Given the description of an element on the screen output the (x, y) to click on. 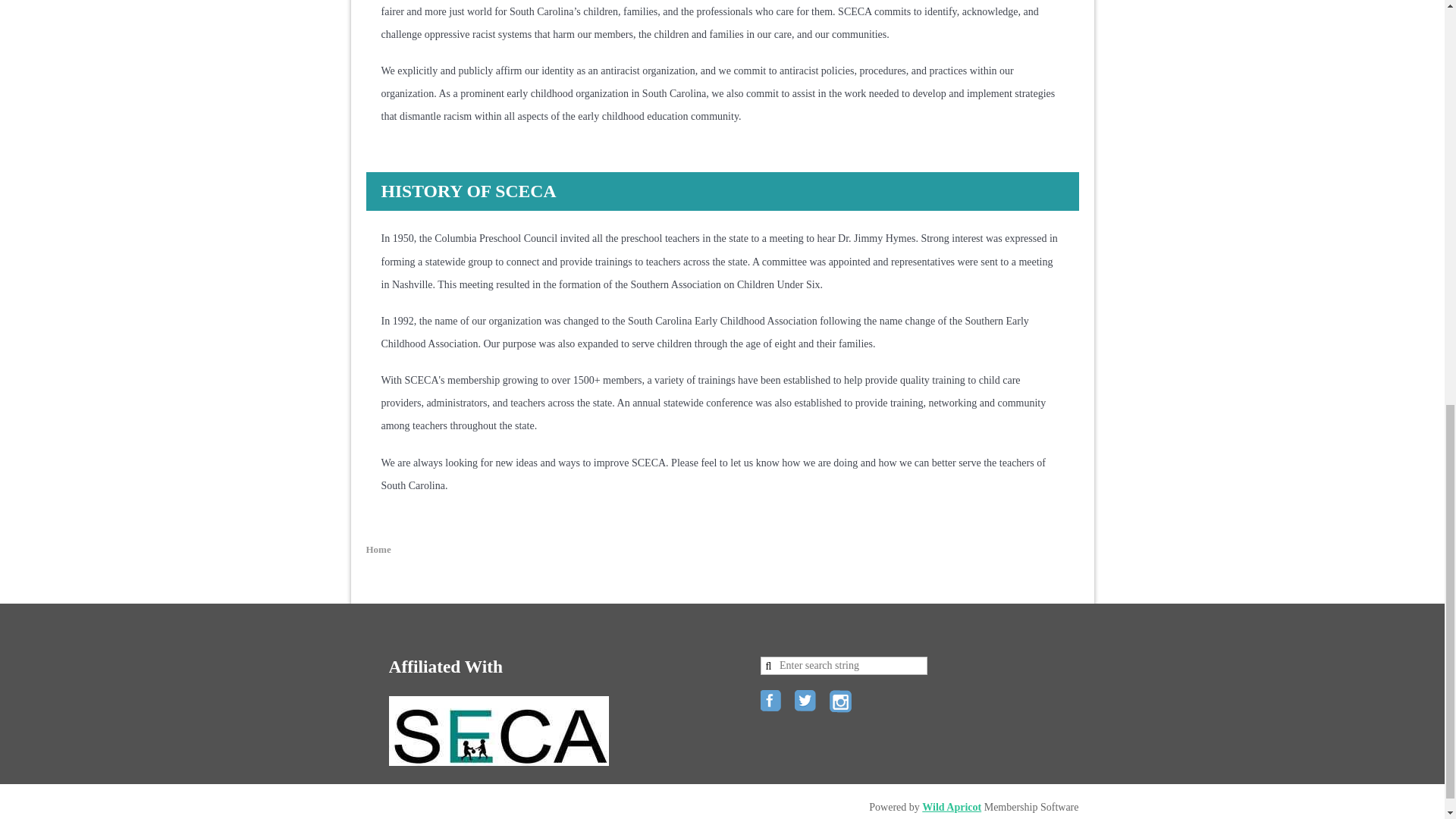
Facebook (772, 702)
Twitter (806, 702)
Instagram (841, 702)
Wild Apricot (951, 807)
